Given the description of an element on the screen output the (x, y) to click on. 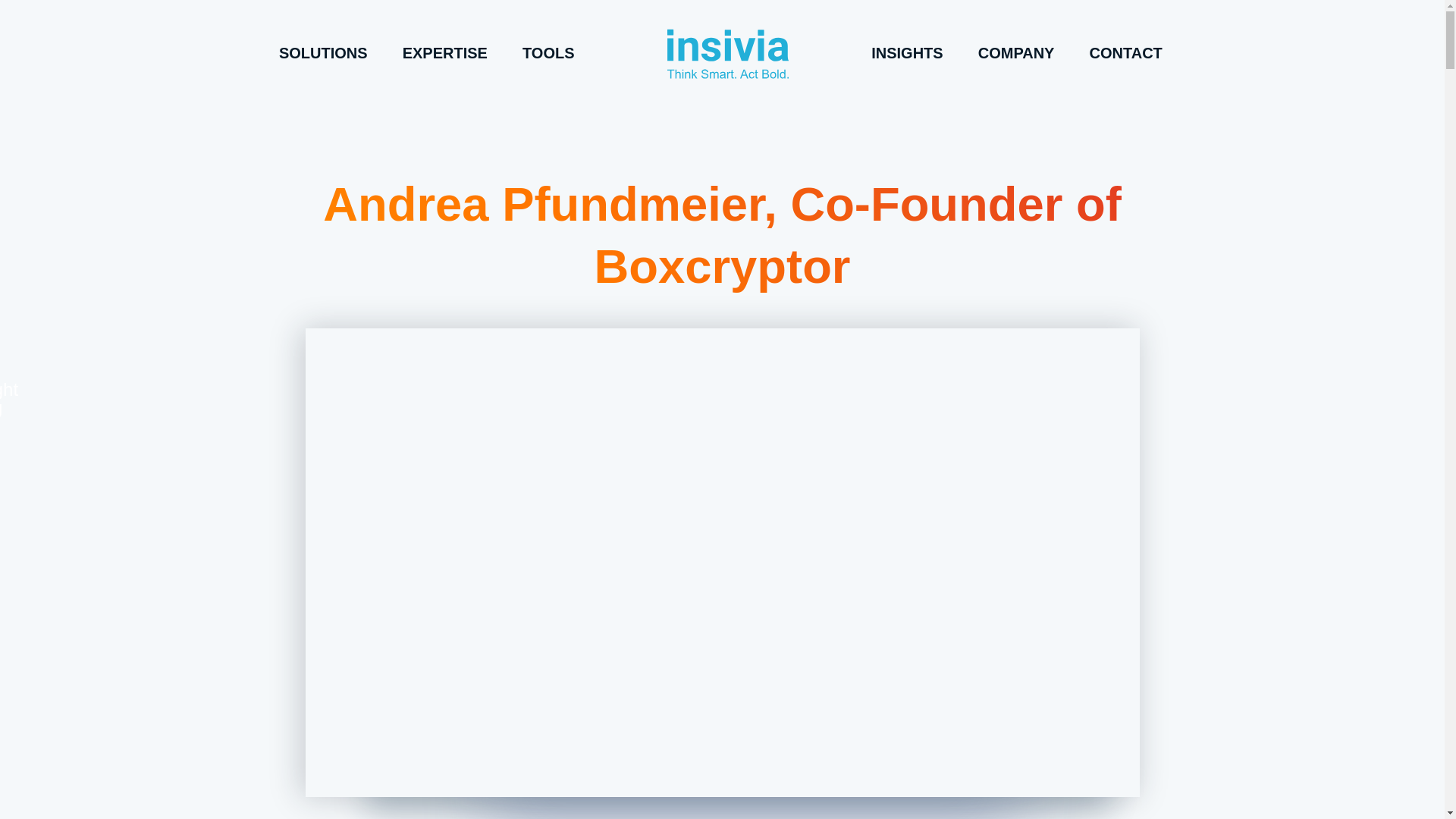
SOLUTIONS (323, 52)
EXPERTISE (445, 52)
TOOLS (548, 52)
INSIGHTS (906, 52)
